Given the description of an element on the screen output the (x, y) to click on. 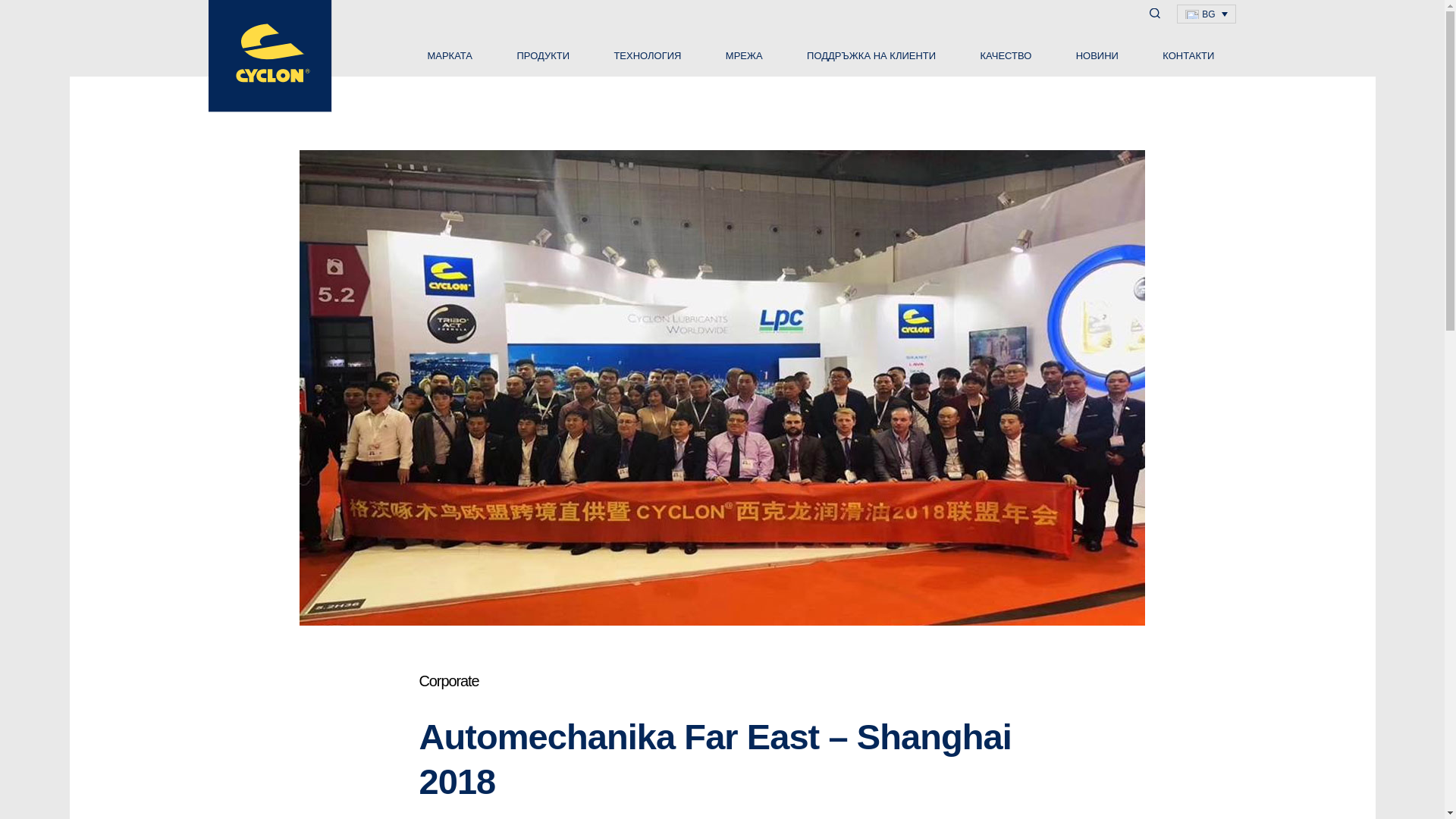
Corporate (449, 680)
BG (1206, 13)
Search (13, 7)
